Given the description of an element on the screen output the (x, y) to click on. 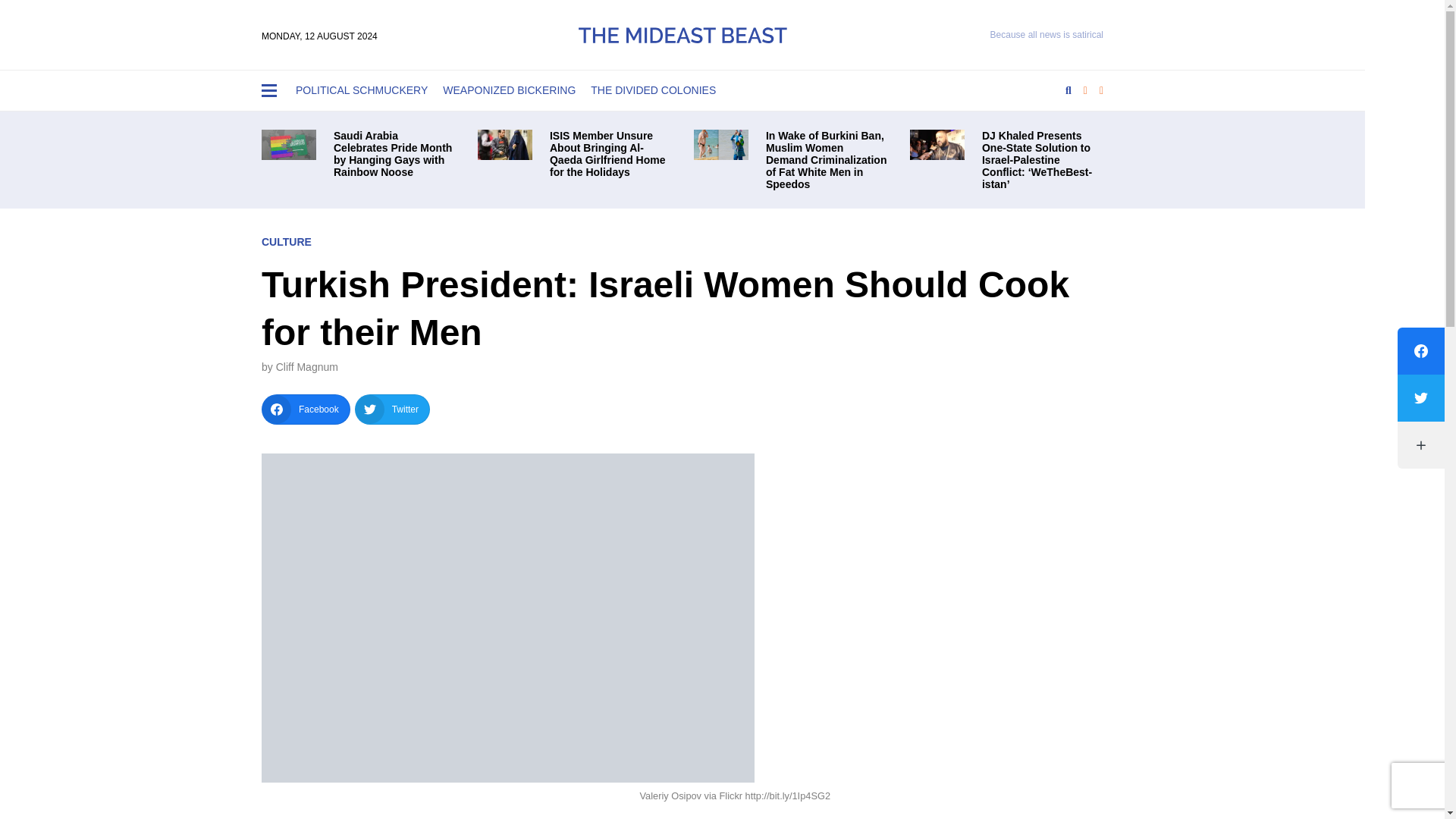
Weaponized Bickering (509, 90)
Political Schmuckery (361, 90)
THE DIVIDED COLONIES (653, 90)
WEAPONIZED BICKERING (509, 90)
POLITICAL SCHMUCKERY (361, 90)
